Given the description of an element on the screen output the (x, y) to click on. 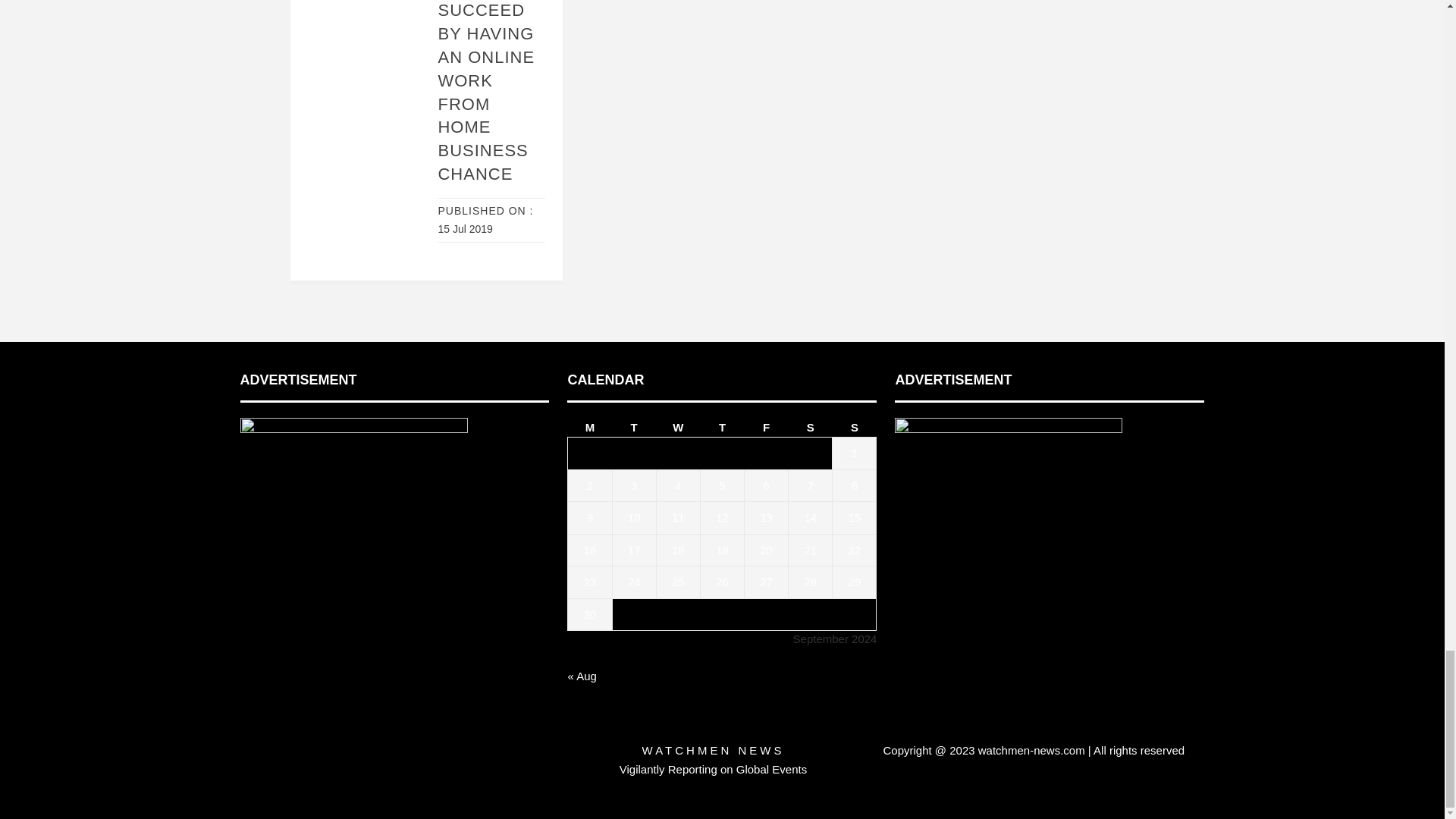
Friday (766, 427)
Sunday (854, 427)
Wednesday (678, 427)
Monday (589, 427)
Thursday (722, 427)
Tuesday (633, 427)
Saturday (810, 427)
